Given the description of an element on the screen output the (x, y) to click on. 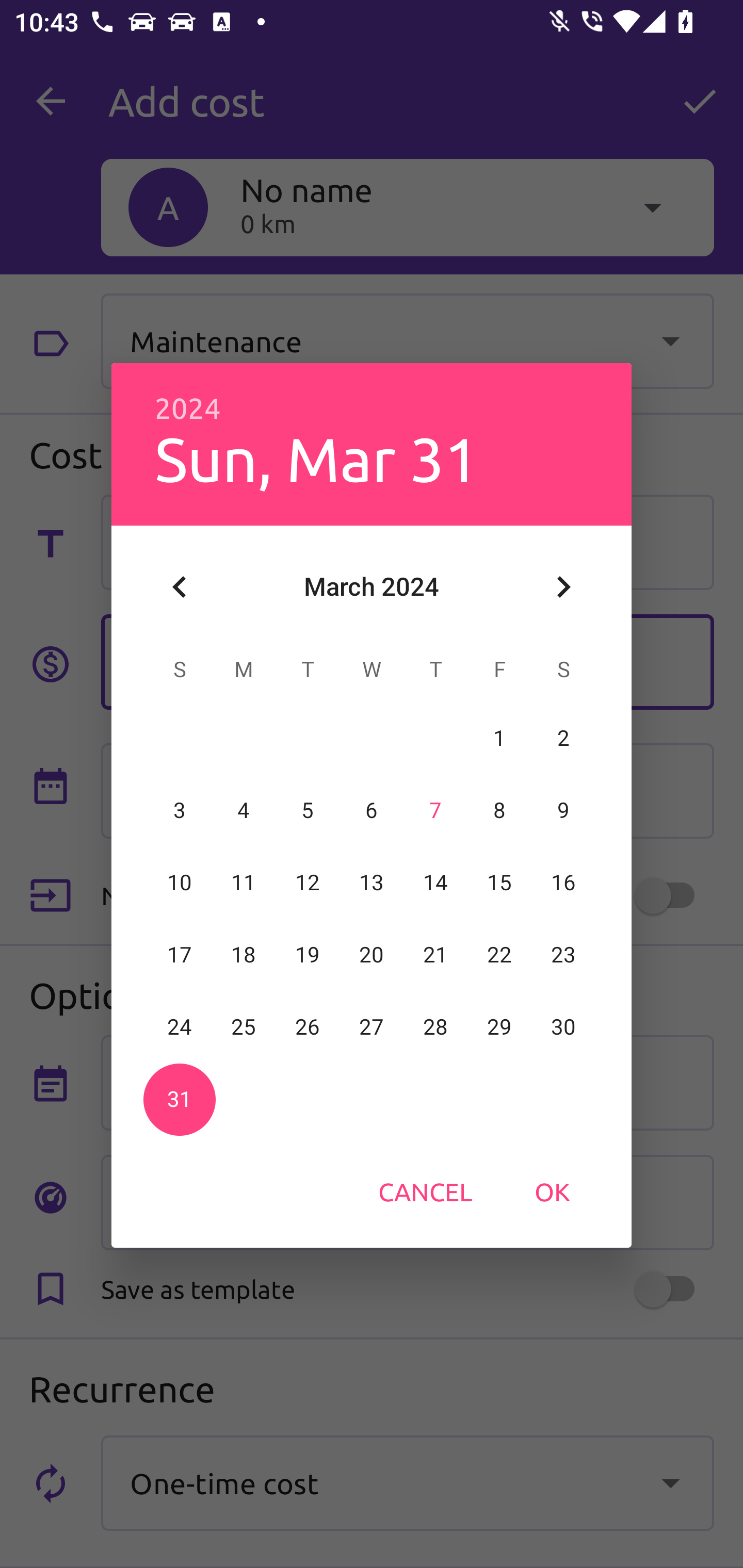
2024 (187, 408)
Sun, Mar 31 (316, 458)
Previous month (178, 587)
Next month (563, 587)
1 01 March 2024 (499, 738)
2 02 March 2024 (563, 738)
3 03 March 2024 (179, 810)
4 04 March 2024 (243, 810)
5 05 March 2024 (307, 810)
6 06 March 2024 (371, 810)
7 07 March 2024 (435, 810)
8 08 March 2024 (499, 810)
9 09 March 2024 (563, 810)
10 10 March 2024 (179, 882)
11 11 March 2024 (243, 882)
12 12 March 2024 (307, 882)
13 13 March 2024 (371, 882)
14 14 March 2024 (435, 882)
15 15 March 2024 (499, 882)
16 16 March 2024 (563, 882)
17 17 March 2024 (179, 954)
18 18 March 2024 (243, 954)
19 19 March 2024 (307, 954)
20 20 March 2024 (371, 954)
21 21 March 2024 (435, 954)
22 22 March 2024 (499, 954)
23 23 March 2024 (563, 954)
24 24 March 2024 (179, 1026)
25 25 March 2024 (243, 1026)
26 26 March 2024 (307, 1026)
27 27 March 2024 (371, 1026)
28 28 March 2024 (435, 1026)
29 29 March 2024 (499, 1026)
30 30 March 2024 (563, 1026)
31 31 March 2024 (179, 1099)
CANCEL (425, 1191)
OK (552, 1191)
